Given the description of an element on the screen output the (x, y) to click on. 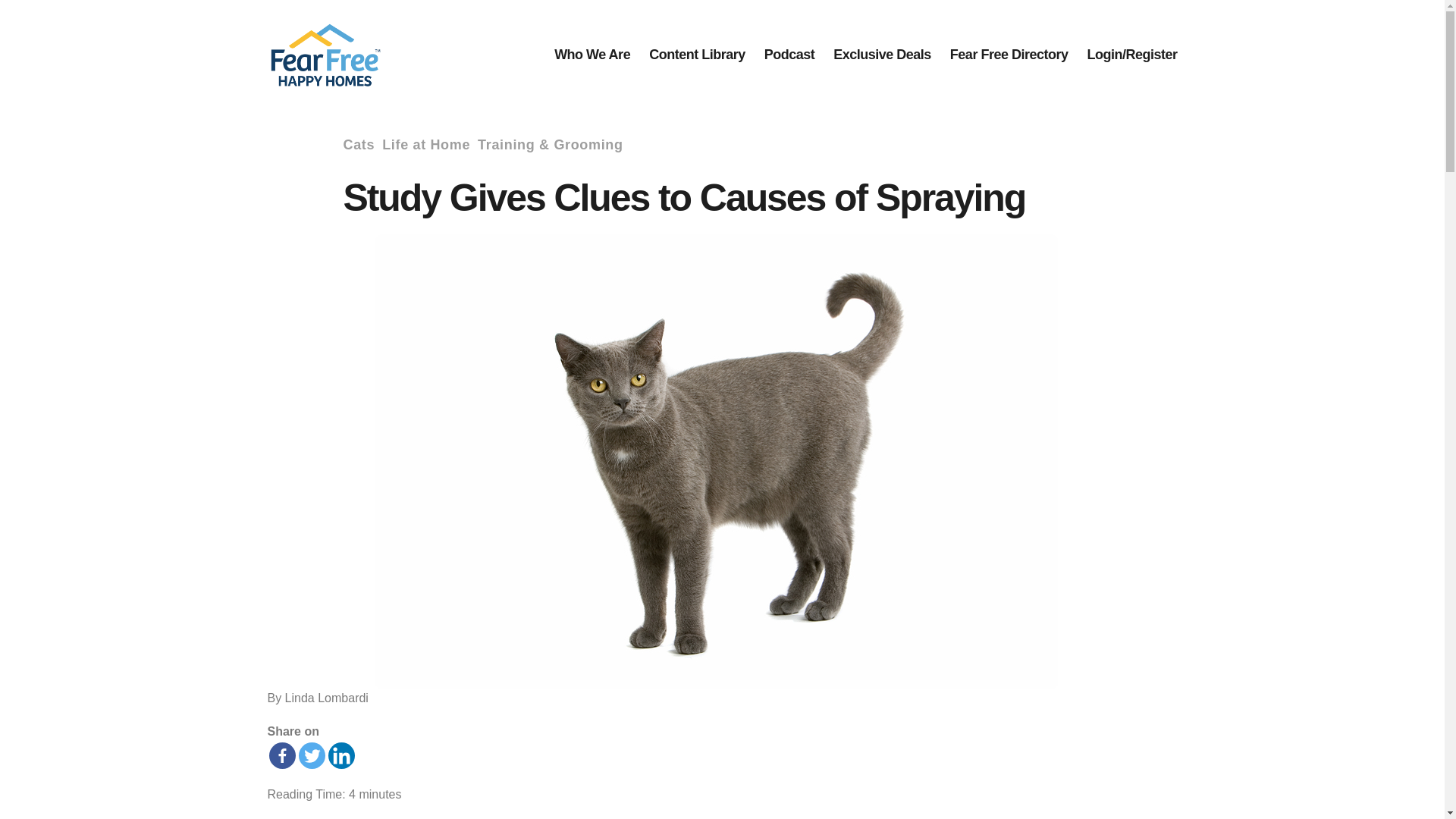
Exclusive Deals (881, 54)
Facebook (281, 755)
Life at Home (425, 144)
Content Library (697, 54)
Fear Free Directory (1009, 54)
Linkedin (340, 755)
Twitter (311, 755)
Podcast (789, 54)
Cats (358, 144)
Who We Are (592, 54)
